Given the description of an element on the screen output the (x, y) to click on. 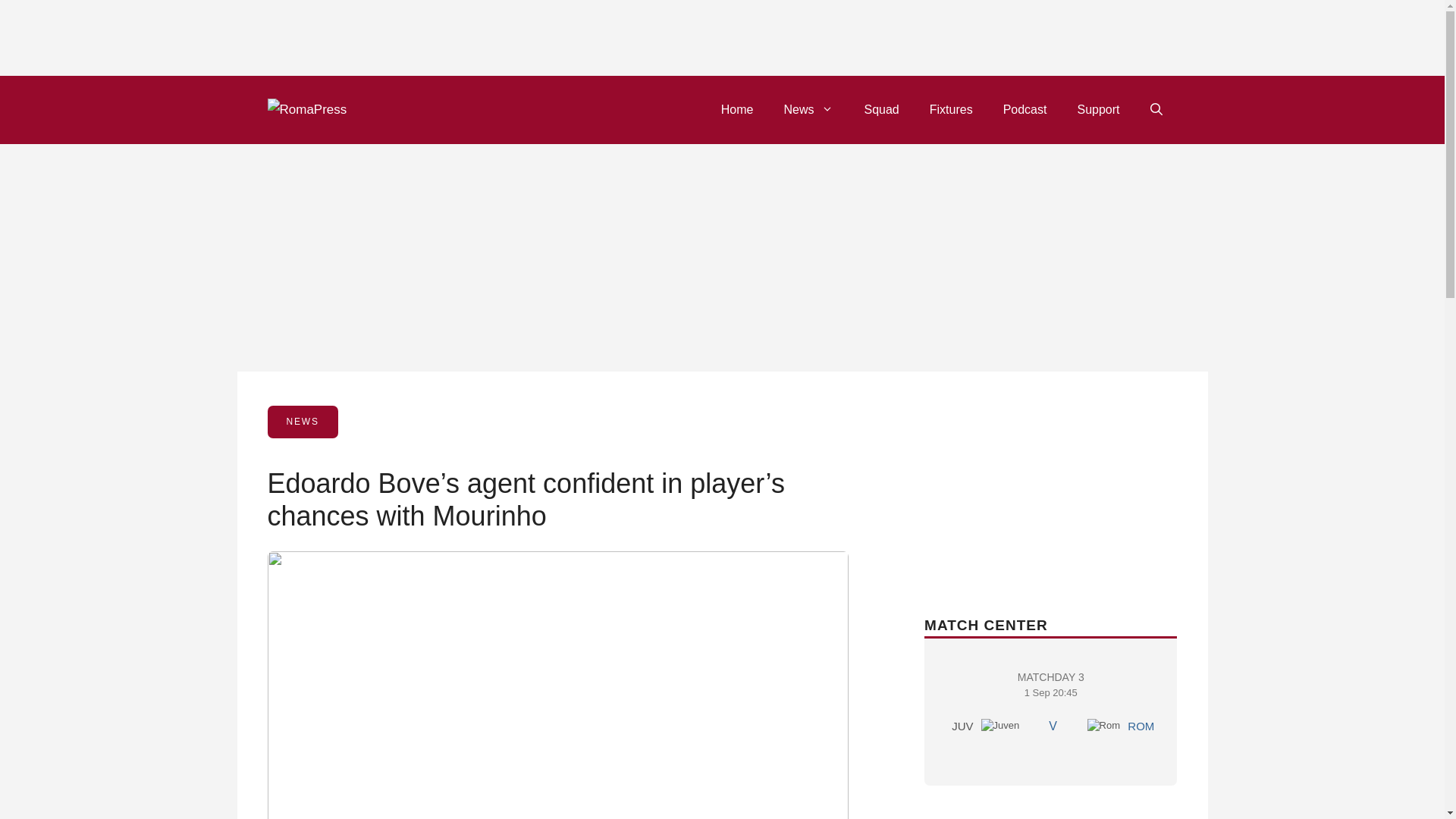
ROM (1050, 707)
Roma (1140, 725)
Juventus (1104, 725)
Fixtures (1000, 725)
Squad (951, 109)
News (881, 109)
Home (808, 109)
Podcast (737, 109)
Support (1025, 109)
